Given the description of an element on the screen output the (x, y) to click on. 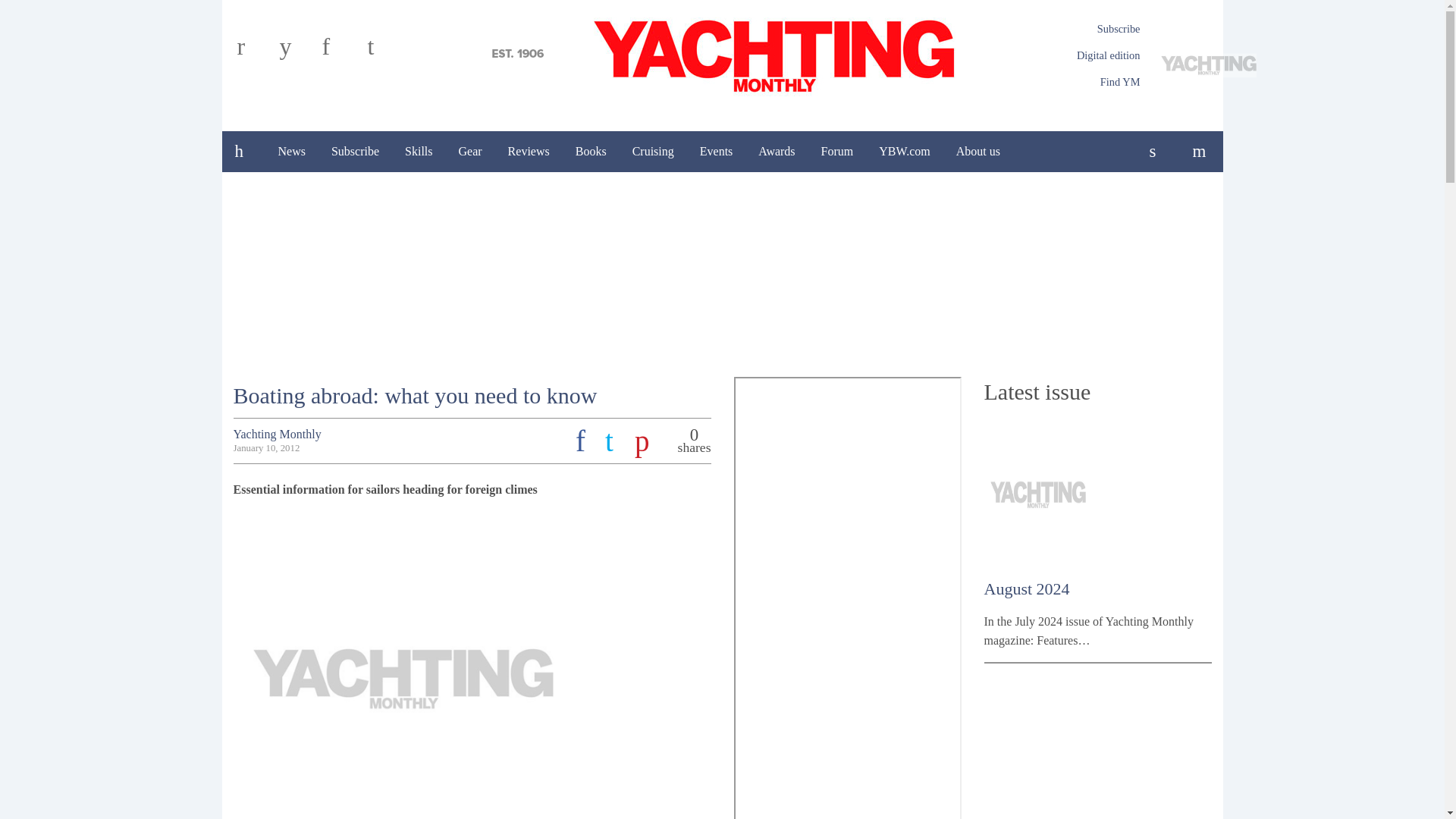
r (254, 52)
Yachting Monthly's Profile (276, 433)
Awards (776, 151)
Subscribe (354, 151)
t (384, 52)
Find YM (1120, 81)
Subscribe (1118, 28)
Books (591, 151)
Cruising (653, 151)
Latest Issue of Yachting Monthly (1188, 65)
Yachting Monthly (722, 53)
Find YM (1120, 81)
Gear (470, 151)
News (291, 151)
y (297, 52)
